Given the description of an element on the screen output the (x, y) to click on. 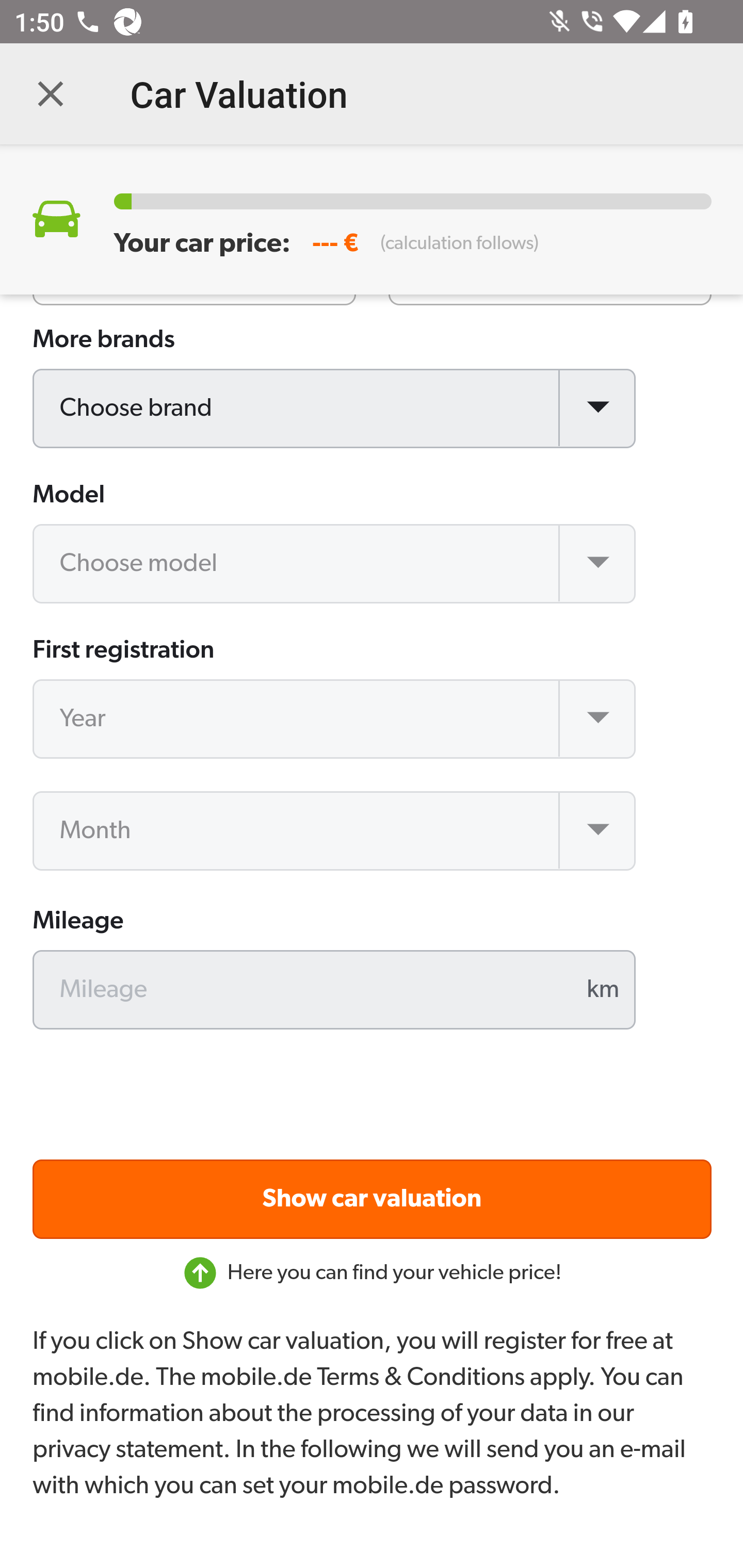
Navigate up (50, 93)
Choose brand (334, 409)
Choose model (334, 564)
Year (334, 720)
Month (334, 831)
Show car valuation (372, 1199)
